Given the description of an element on the screen output the (x, y) to click on. 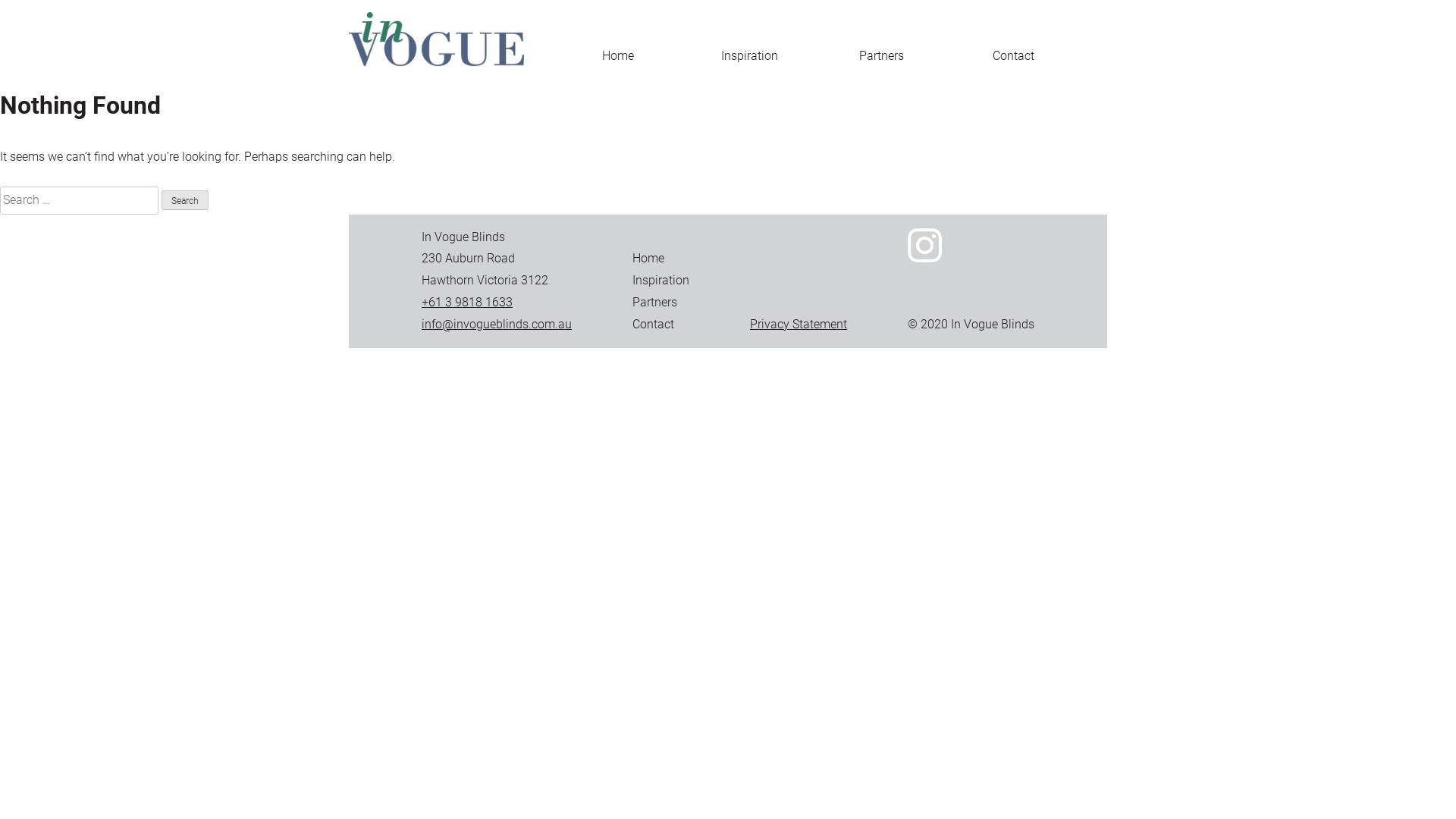
Contact Element type: text (653, 323)
info@invogueblinds.com.au Element type: text (496, 323)
Partners Element type: text (881, 56)
Partners Element type: text (654, 301)
Inspiration Element type: text (660, 280)
Contact Element type: text (1013, 56)
Search Element type: text (184, 200)
+61 3 9818 1633 Element type: text (466, 301)
Inspiration Element type: text (749, 56)
Privacy Statement Element type: text (798, 323)
Home Element type: text (617, 56)
Home Element type: text (648, 258)
